Given the description of an element on the screen output the (x, y) to click on. 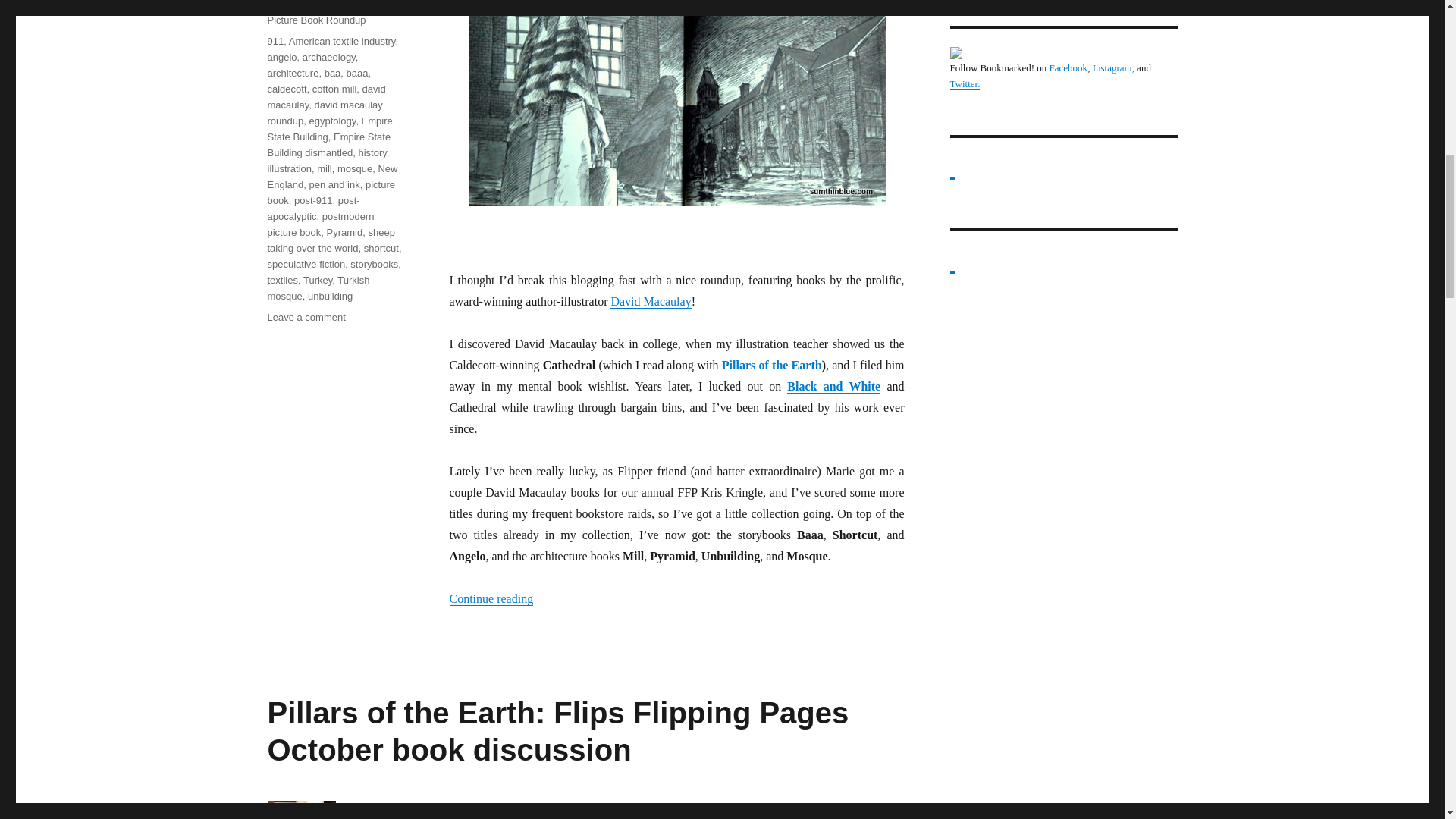
egyptology (331, 120)
illustration (288, 168)
Empire State Building (328, 128)
New England (331, 176)
Author Feature (299, 4)
pen and ink (333, 184)
angelo (281, 57)
caldecott (285, 89)
Empire State Building dismantled (328, 144)
architecture (292, 72)
American textile industry (342, 41)
history (371, 152)
Black and White (833, 386)
Book Reviews (368, 4)
baaa (357, 72)
